Given the description of an element on the screen output the (x, y) to click on. 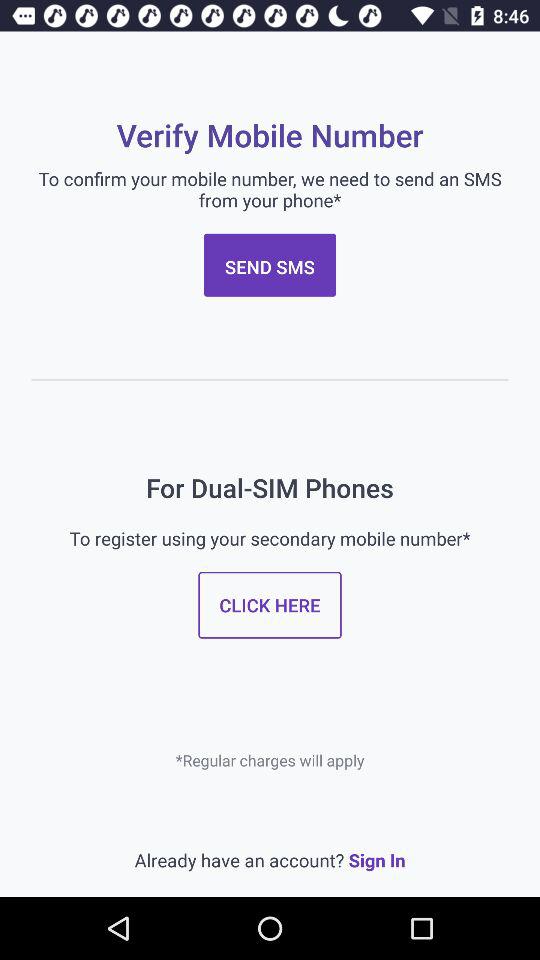
jump to the click here (269, 604)
